Given the description of an element on the screen output the (x, y) to click on. 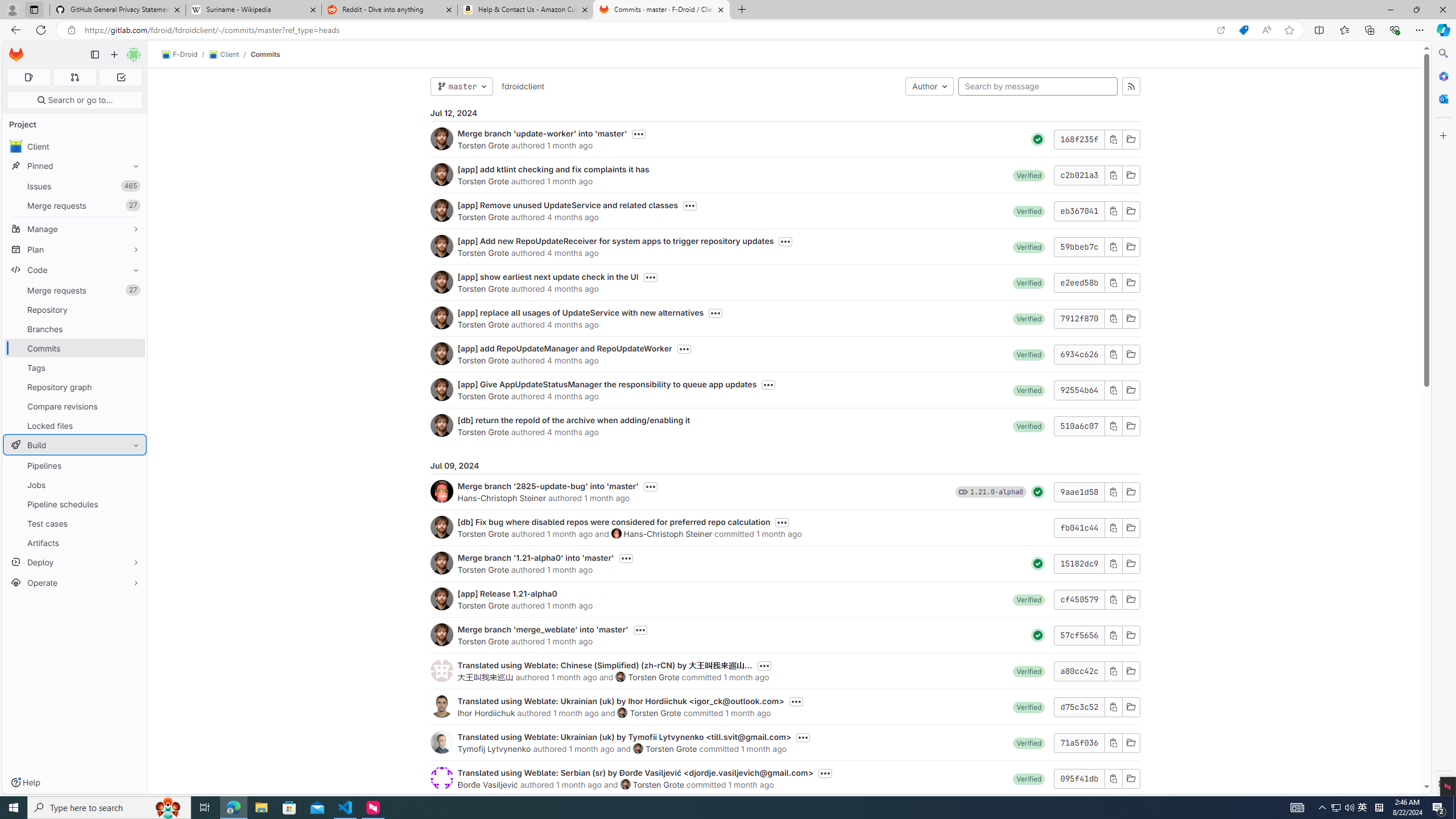
Deploy (74, 561)
F-Droid (179, 54)
Compare revisions (74, 406)
Create new... (113, 54)
Code (74, 269)
Pin Pipeline schedules (132, 504)
Primary navigation sidebar (94, 54)
